Given the description of an element on the screen output the (x, y) to click on. 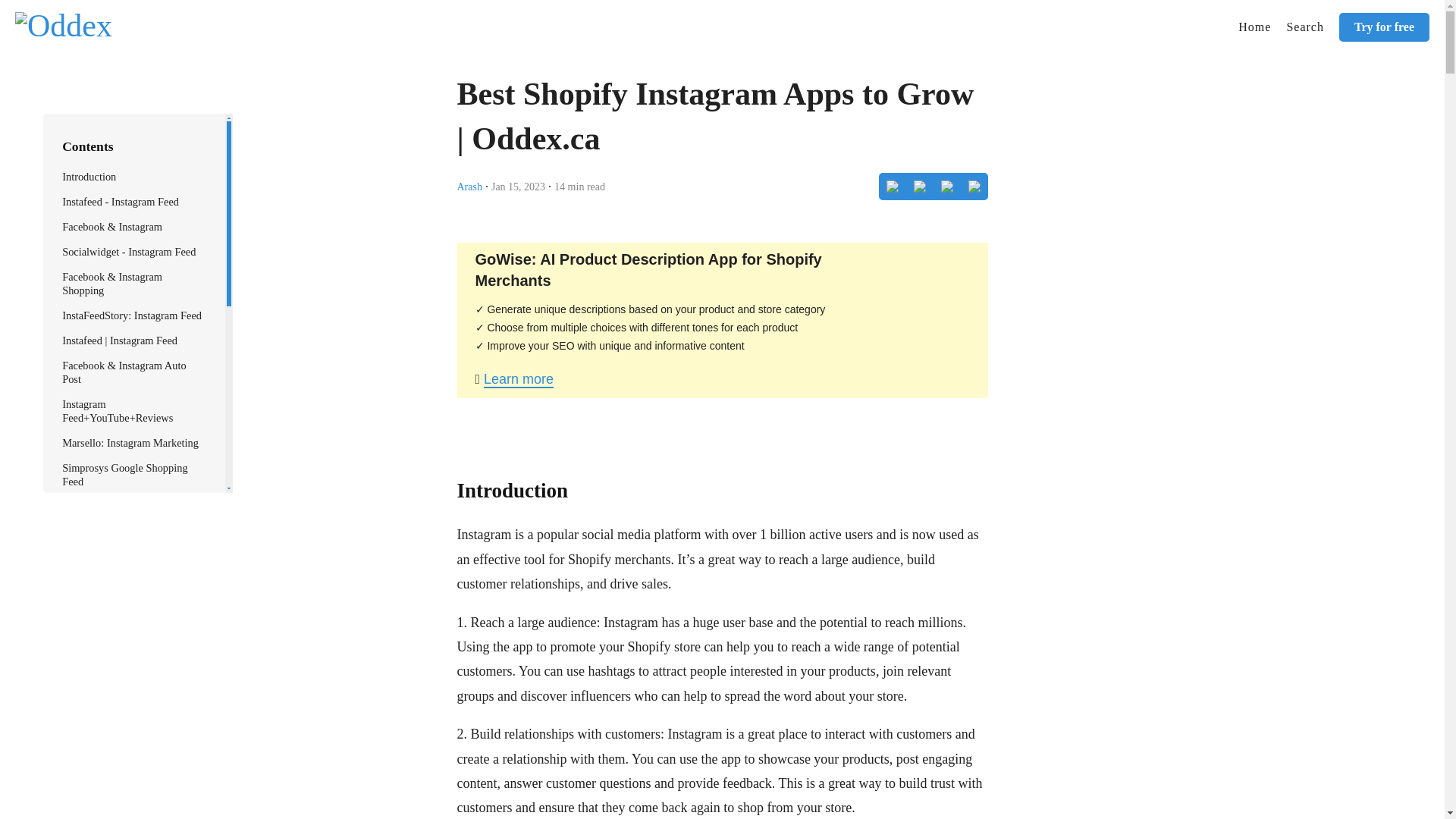
Try for free (1384, 26)
InstaFeedStory: Instagram Feed (132, 315)
Conclusion (87, 817)
Marsello: Instagram Marketing (130, 442)
Arash (469, 185)
Instagram Stories Like Menu (125, 722)
Try for free (1384, 26)
Home (1254, 26)
Messenger channel (104, 697)
Instafeed: Instagram Feed (118, 506)
Learn more (518, 379)
Search (1305, 26)
Introduction (89, 176)
Instagram Discount Referrals (126, 797)
Simprosys Google Shopping Feed (124, 474)
